Given the description of an element on the screen output the (x, y) to click on. 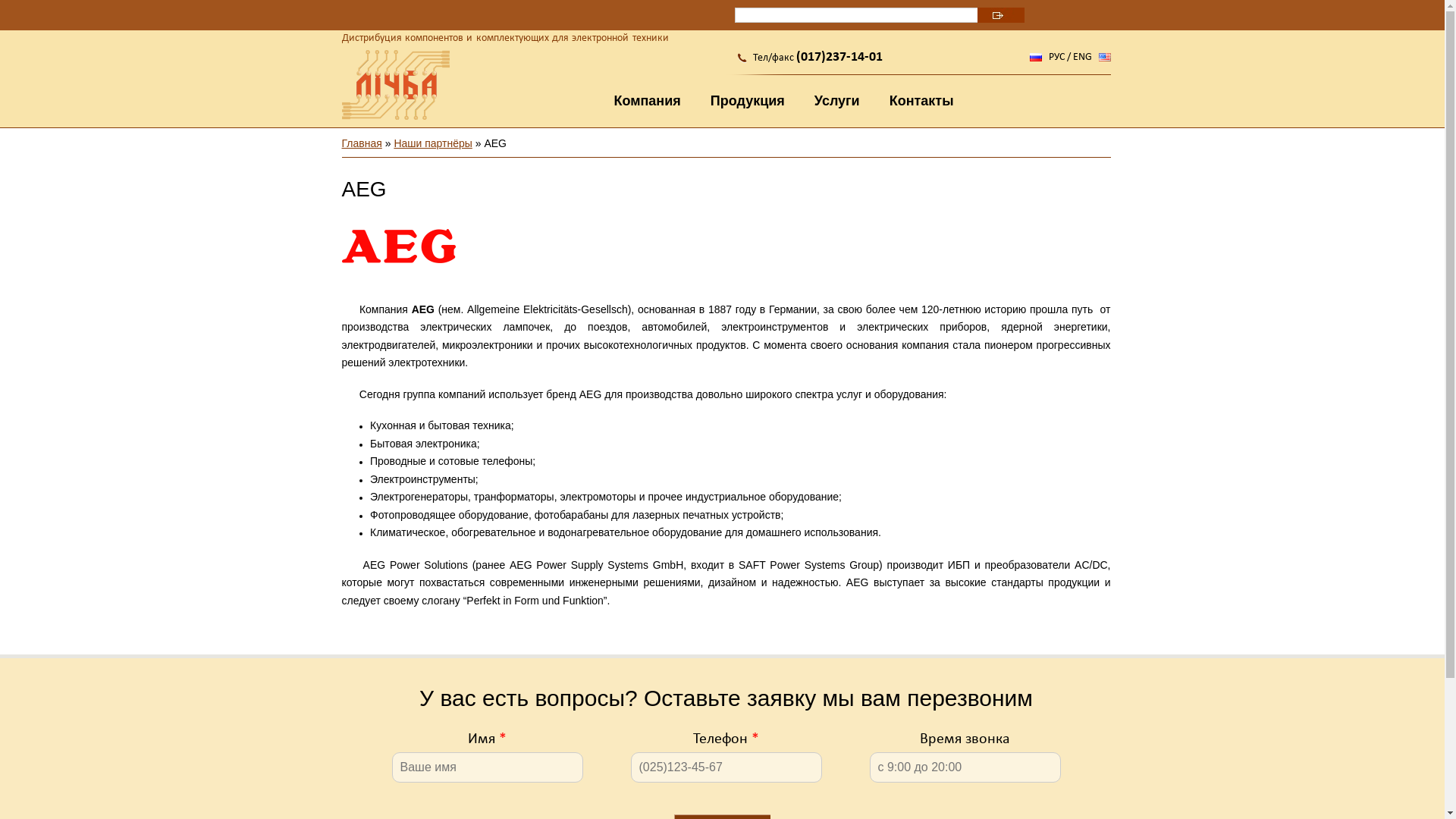
ENG Element type: text (1081, 56)
